Given the description of an element on the screen output the (x, y) to click on. 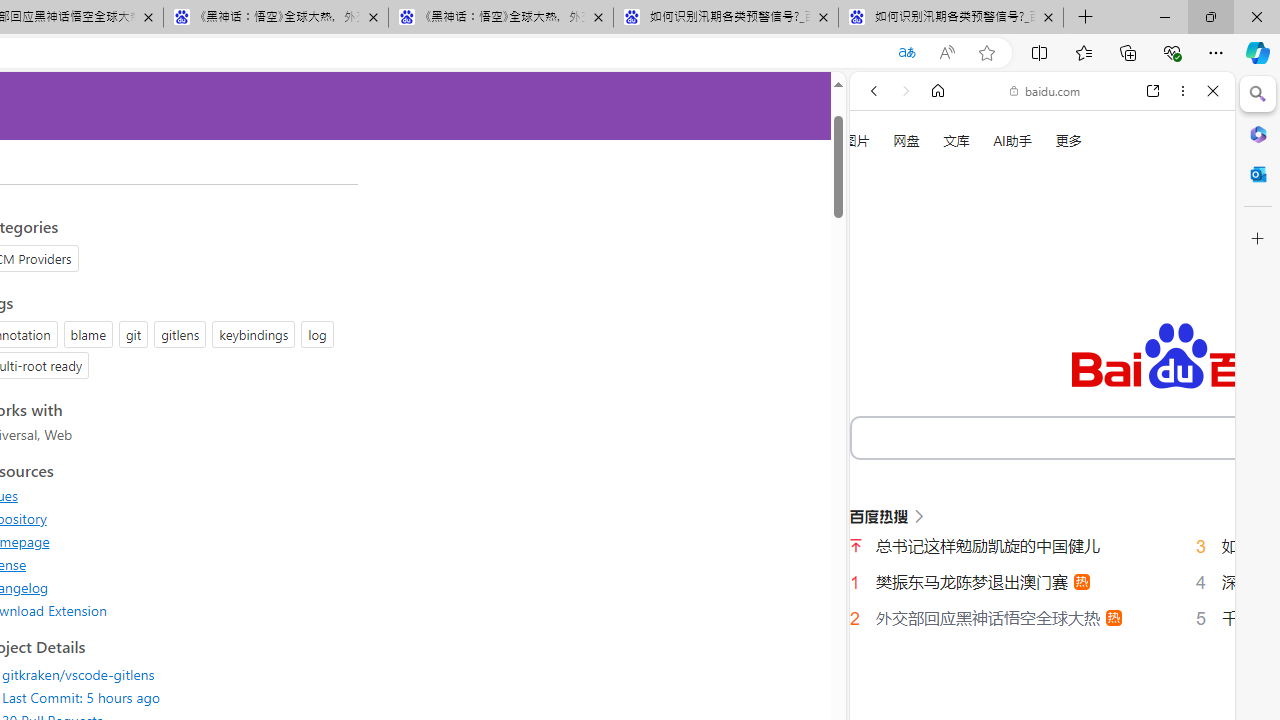
Cambridge Dictionary (1034, 698)
SEARCH TOOLS (1093, 339)
This site scope (936, 180)
Search Filter, WEB (882, 339)
